Given the description of an element on the screen output the (x, y) to click on. 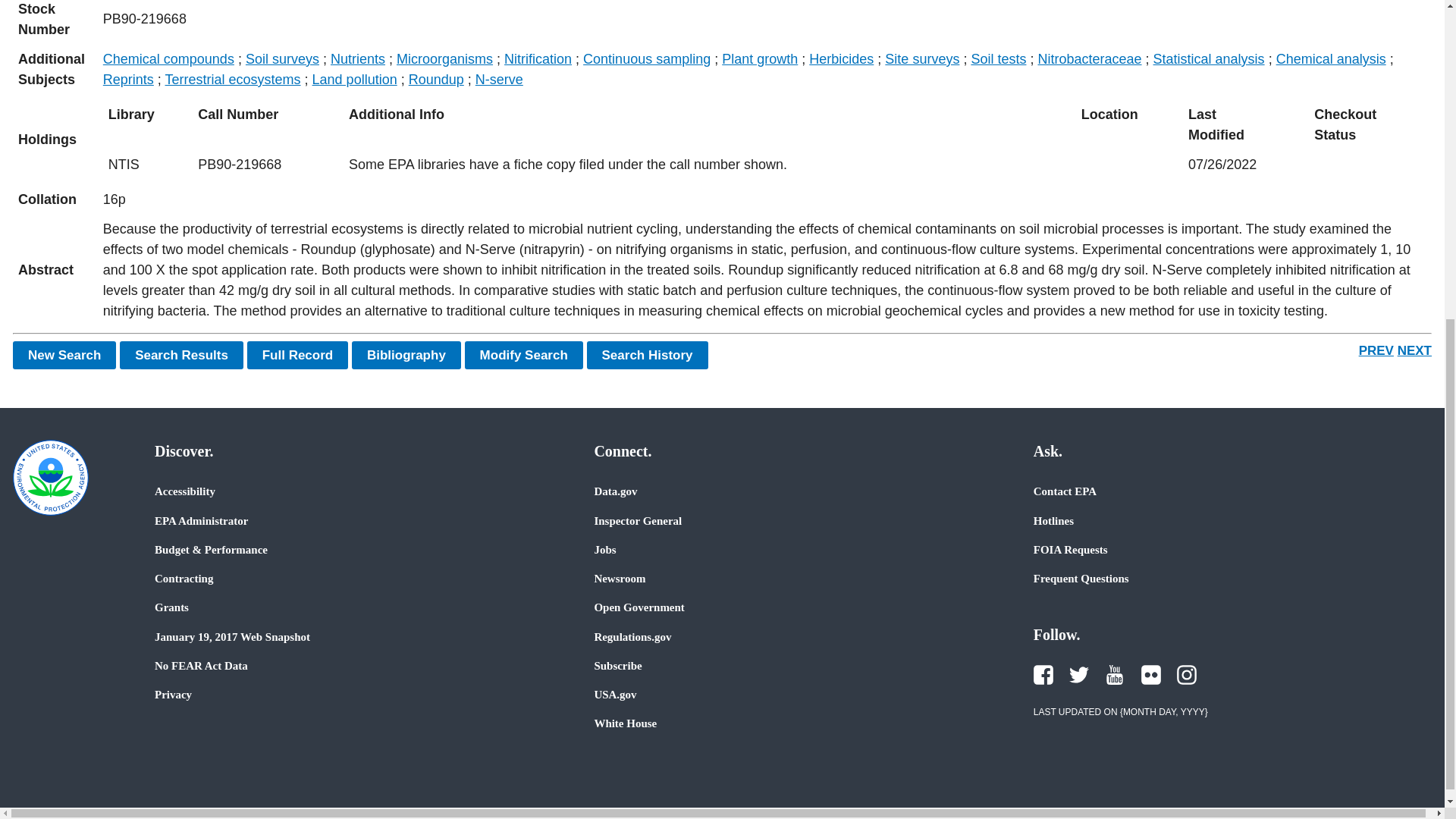
Bibliography (406, 355)
NEXT (1414, 350)
Nitrification (537, 58)
Plant growth (759, 58)
Terrestrial ecosystems (233, 79)
Accessibility (184, 490)
Chemical compounds (168, 58)
Contracting (183, 578)
Modify Search (523, 355)
N-serve (499, 79)
EPA Administrator (200, 520)
PREV (1375, 350)
Reprints (128, 79)
Full Record (298, 355)
Land pollution (355, 79)
